Given the description of an element on the screen output the (x, y) to click on. 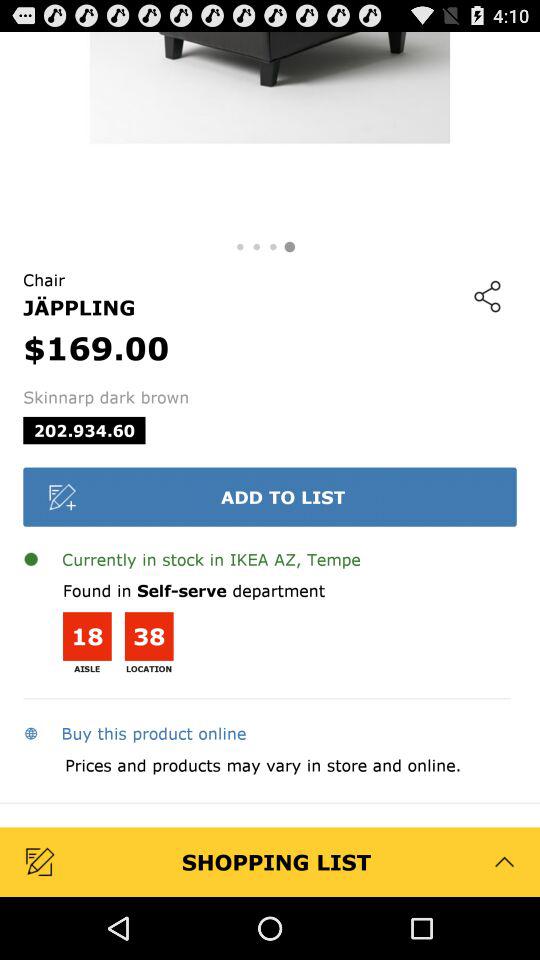
tap icon at the top right corner (487, 296)
